Given the description of an element on the screen output the (x, y) to click on. 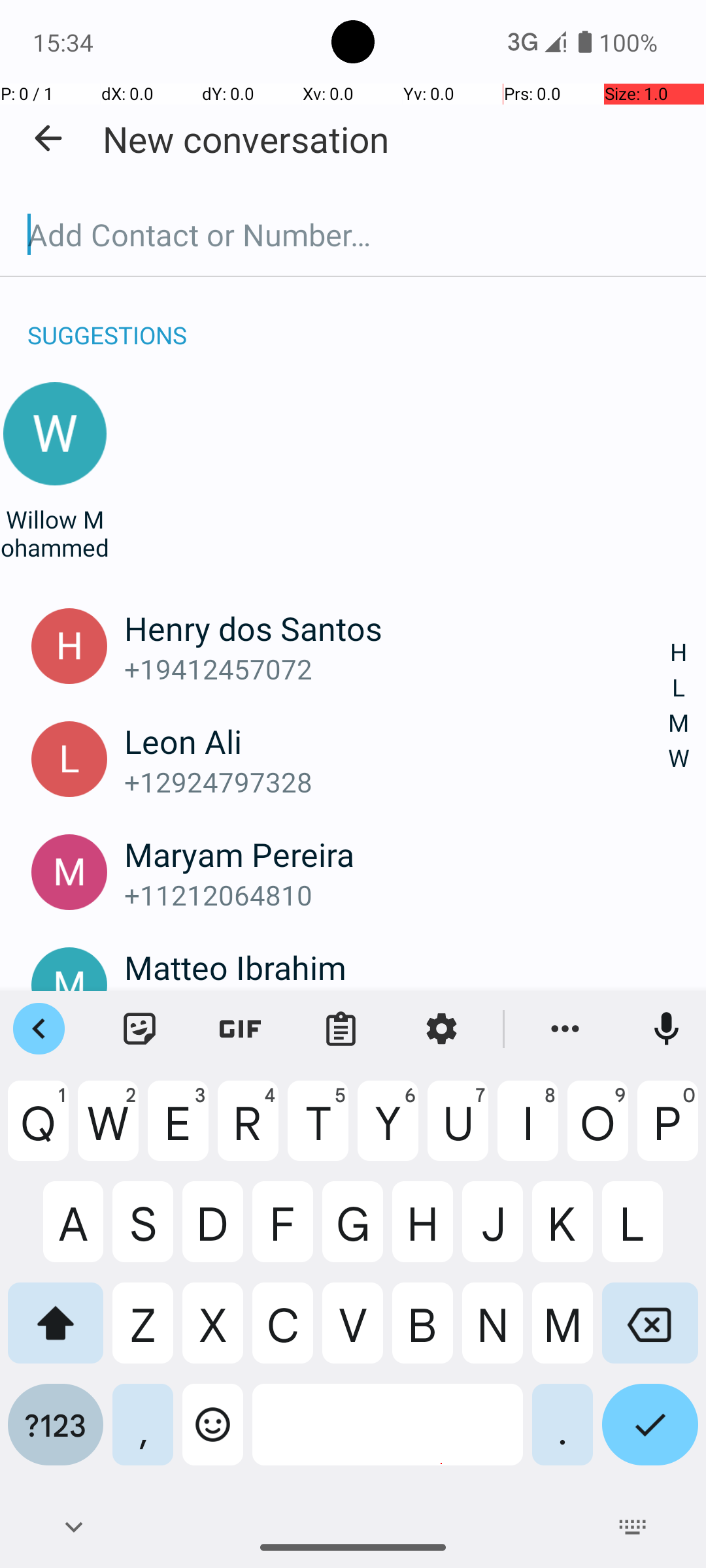
SUGGESTIONS Element type: android.widget.TextView (106, 321)
H
L
M
W Element type: android.widget.TextView (678, 705)
Willow Mohammed Element type: android.widget.TextView (54, 532)
Henry dos Santos Element type: android.widget.TextView (397, 627)
+19412457072 Element type: android.widget.TextView (397, 668)
Leon Ali Element type: android.widget.TextView (397, 740)
+12924797328 Element type: android.widget.TextView (397, 781)
Maryam Pereira Element type: android.widget.TextView (397, 853)
+11212064810 Element type: android.widget.TextView (397, 894)
Matteo Ibrahim Element type: android.widget.TextView (397, 966)
+12387634622 Element type: android.widget.TextView (397, 1007)
